Given the description of an element on the screen output the (x, y) to click on. 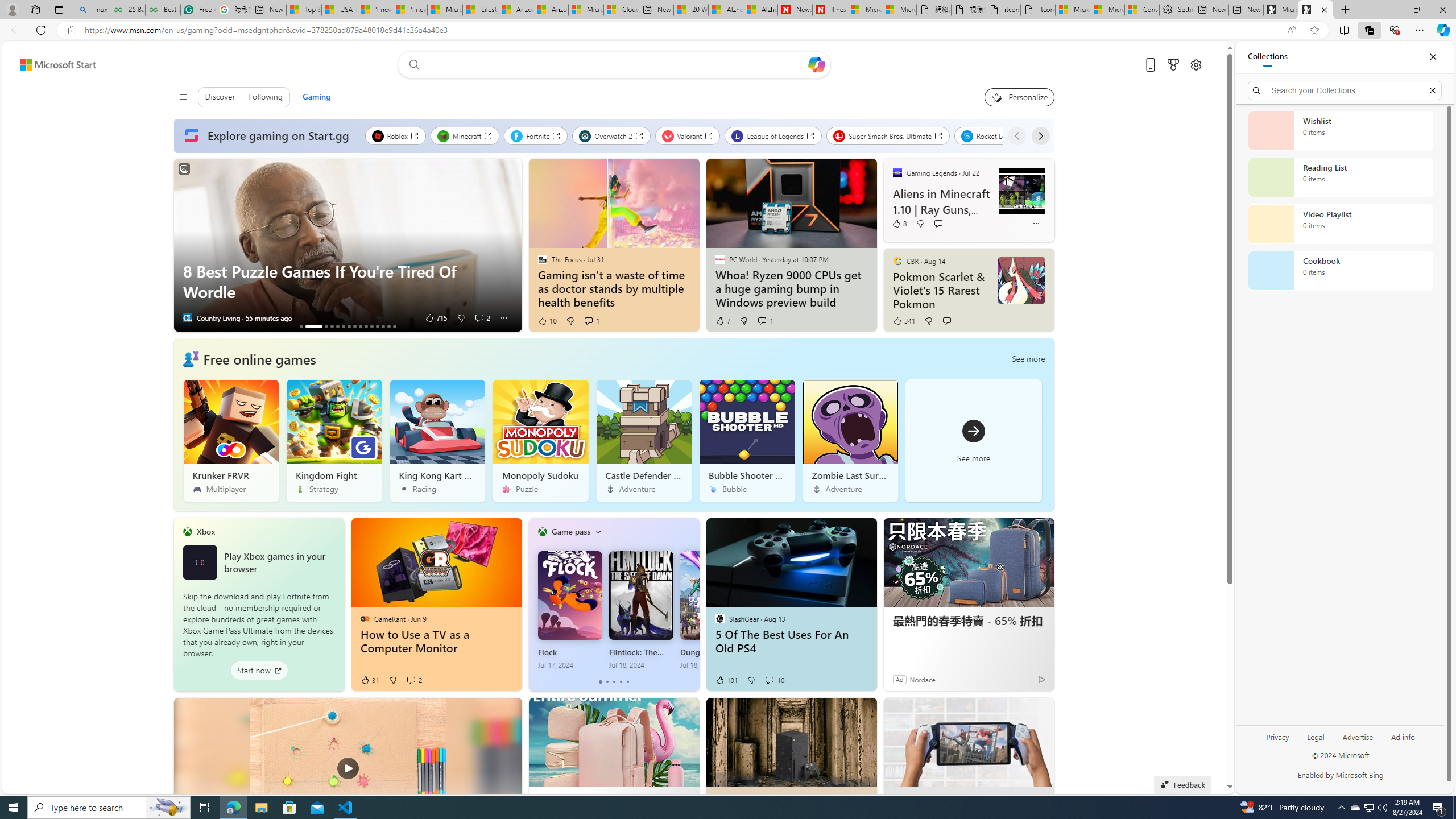
8 Best Puzzle Games If You're Tired Of Wordle (347, 244)
Xbox (205, 531)
Dungeons Of Hinterberg Jul 18, 2024 (711, 610)
Wishlist collection, 0 items (1339, 130)
How to Use a TV as a Computer Monitor (435, 641)
101 Like (726, 680)
Video Playlist collection, 0 items (1339, 223)
Top Stories - MSN (303, 9)
Starfield: How To Use Your Spaceship (348, 326)
